Given the description of an element on the screen output the (x, y) to click on. 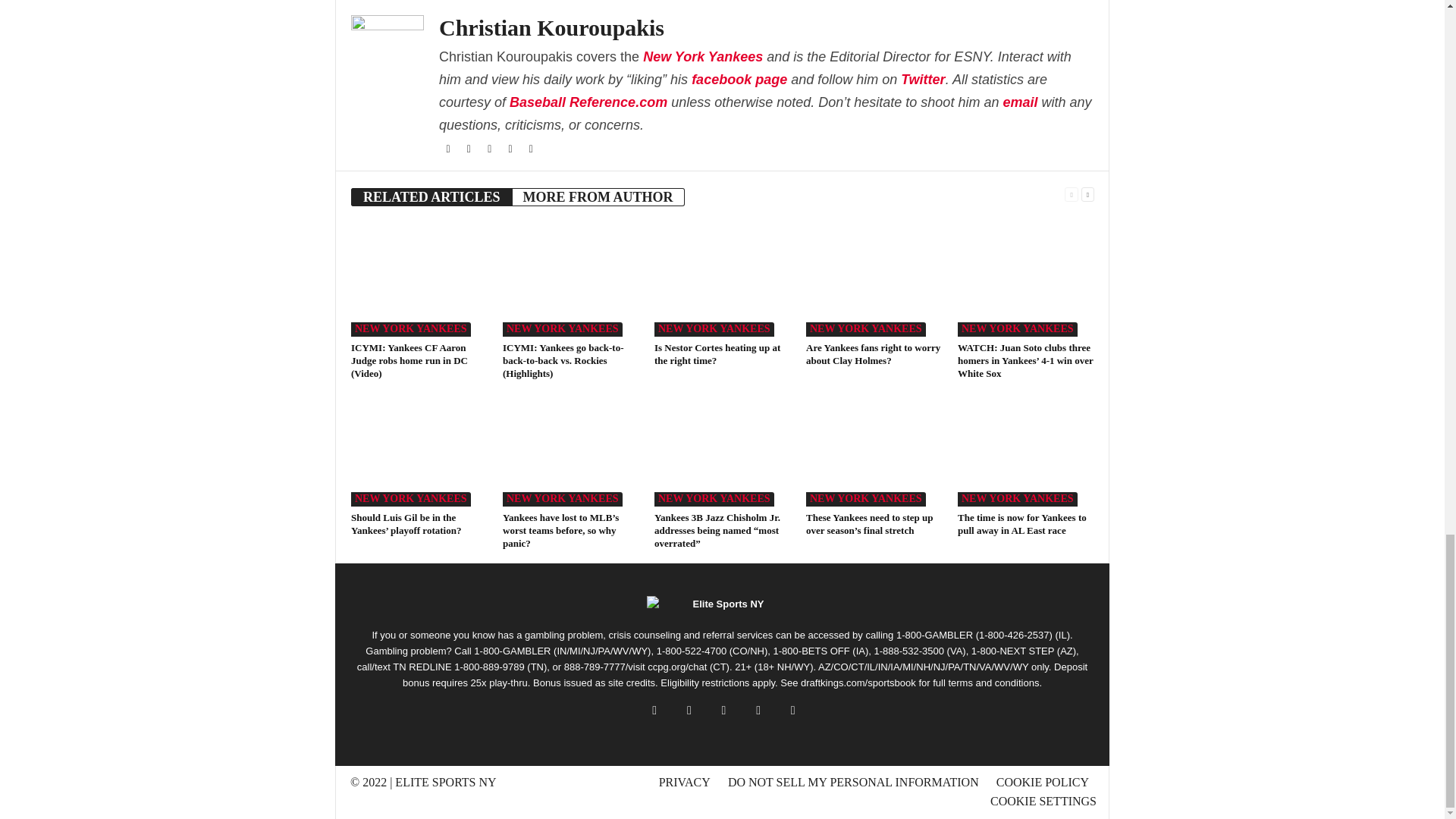
facebook page (739, 79)
Twitter (922, 79)
New York Yankees (711, 56)
New York Yankees (652, 56)
